Given the description of an element on the screen output the (x, y) to click on. 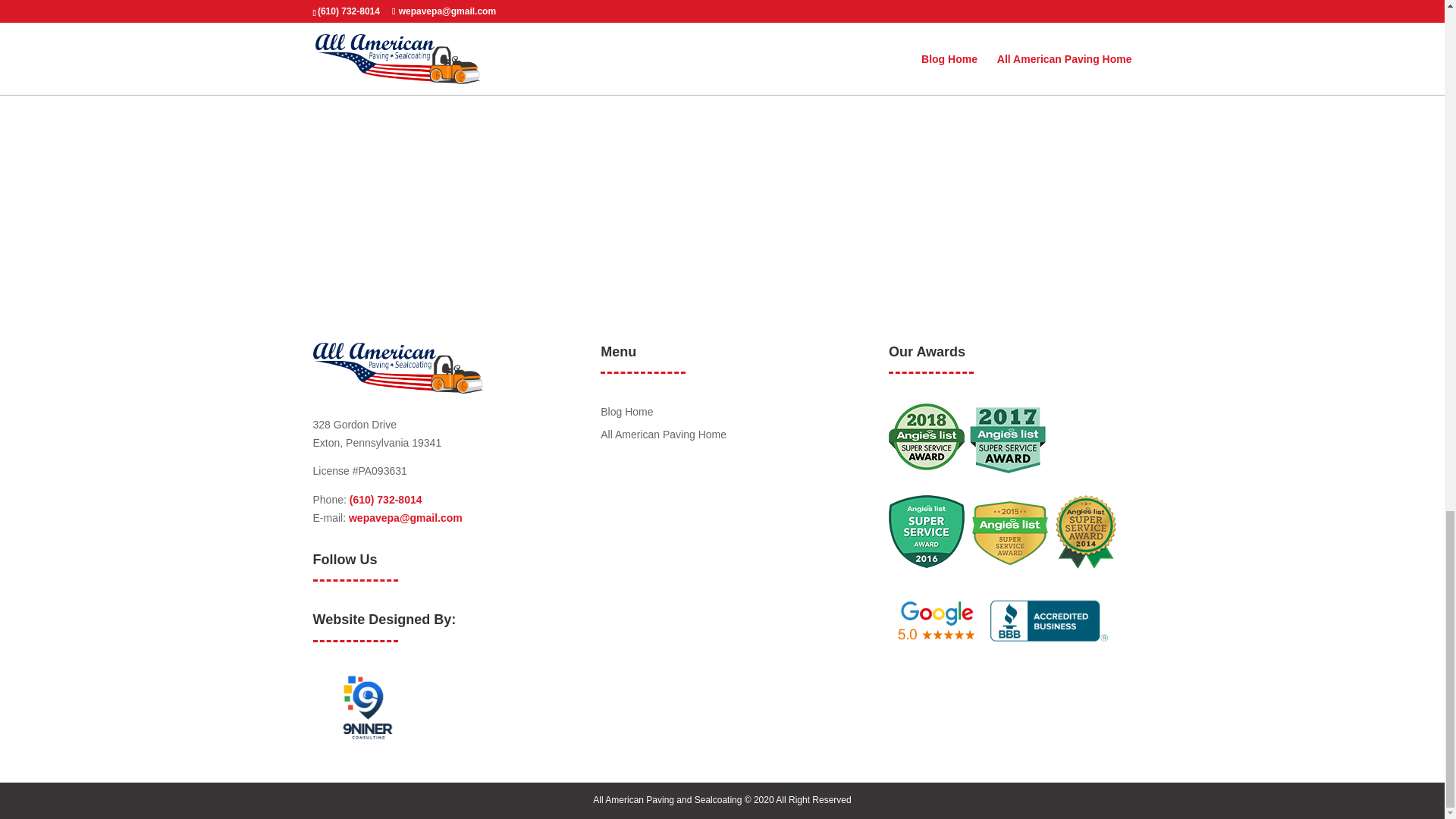
9NINER (367, 707)
all-american-paving-logo (397, 368)
All American Paving Home (662, 434)
2017 (1007, 440)
2015 (1010, 533)
google-5-stars-reviews-png-11 (936, 621)
betterbusinessbureau-logo (1048, 619)
Blog Home (625, 411)
2018 (925, 436)
2016 (925, 531)
